Given the description of an element on the screen output the (x, y) to click on. 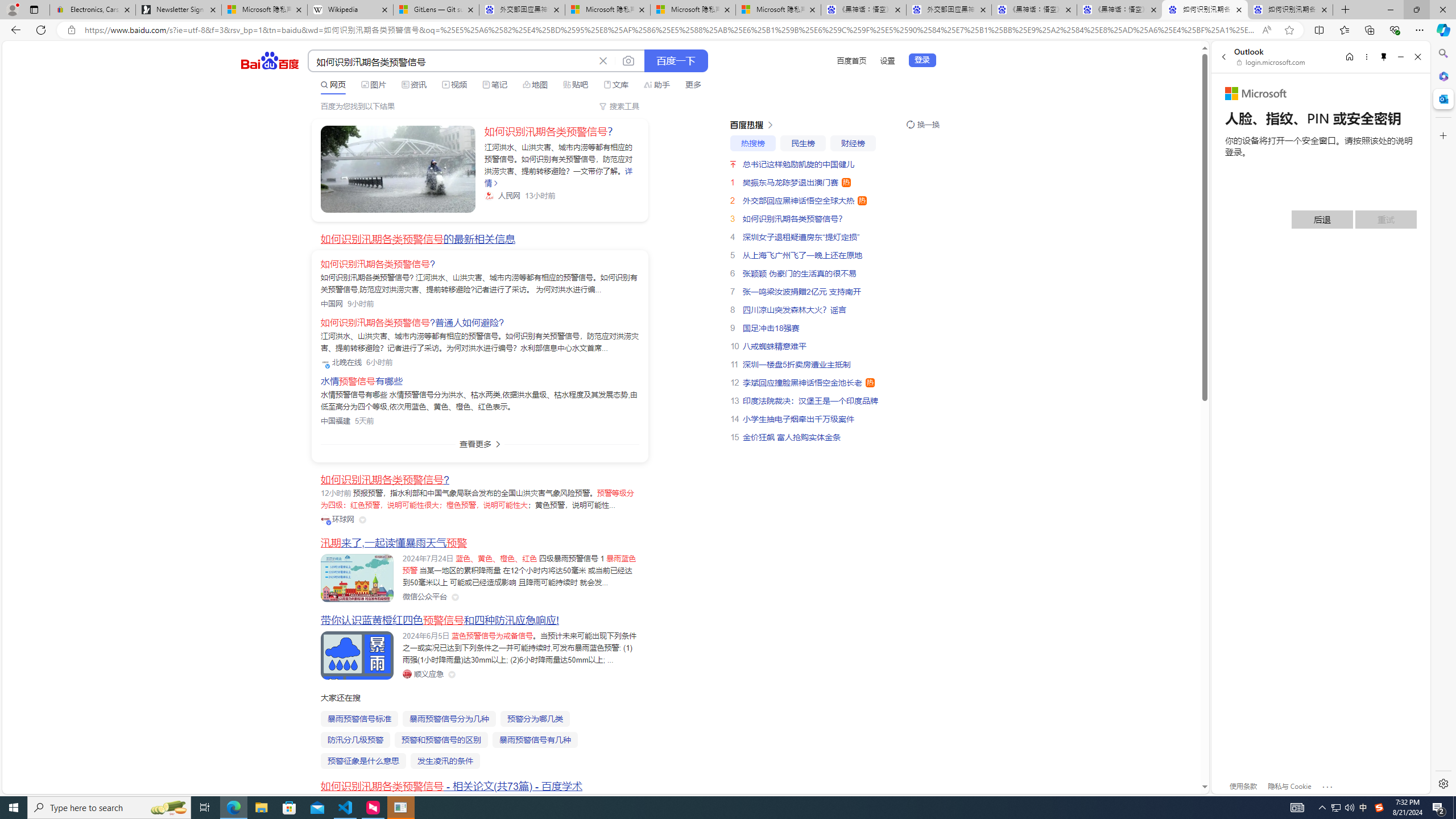
login.microsoft.com (1271, 61)
